Given the description of an element on the screen output the (x, y) to click on. 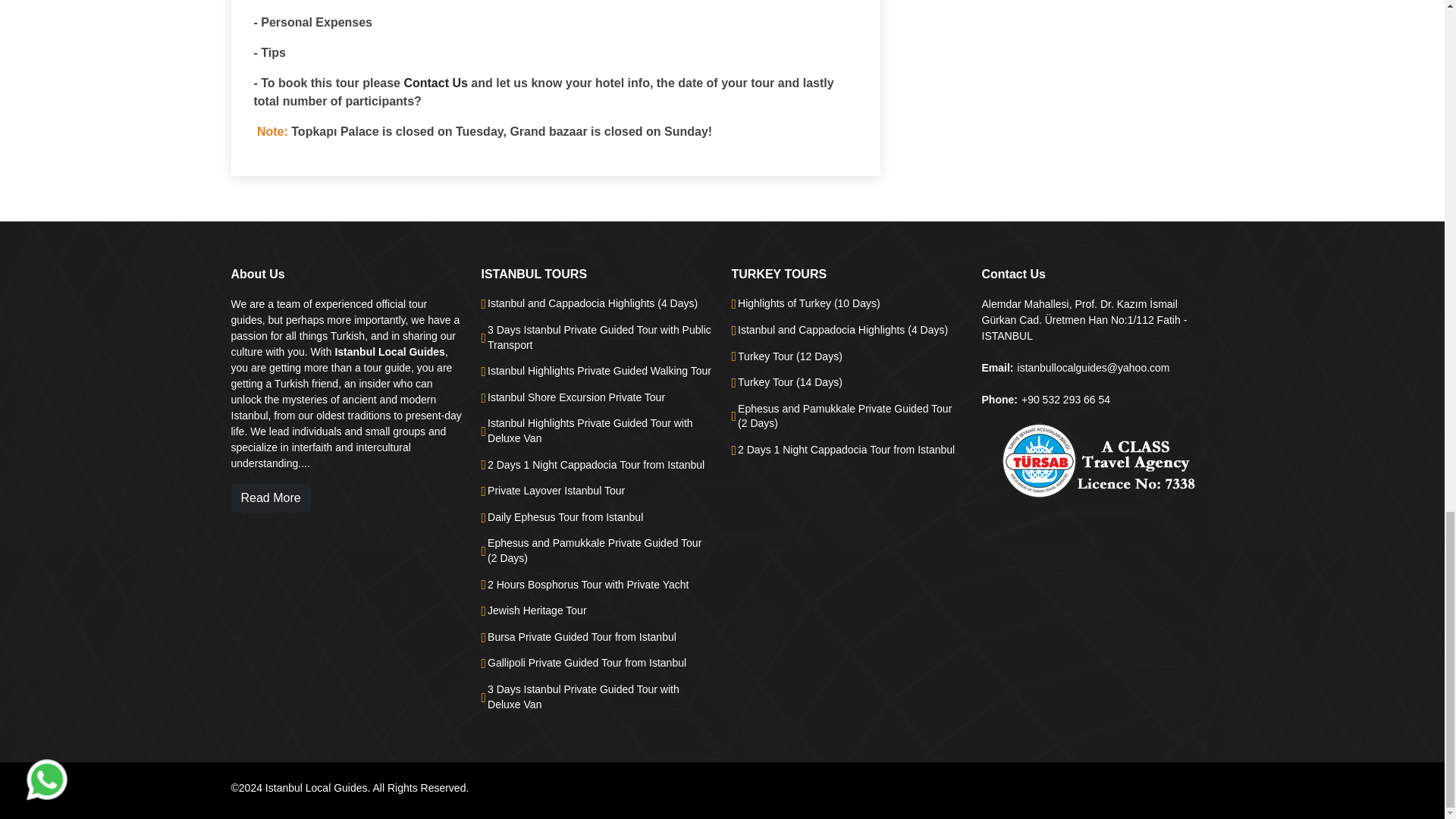
Istanbul Highlights Private Guided Tour with Deluxe Van (600, 430)
Istanbul Highlights Private Guided Walking Tour (599, 371)
Read More (270, 498)
Jewish Heritage Tour (536, 611)
Contact Us (435, 82)
3 Days Istanbul Private Guided Tour with Public Transport (600, 337)
2 Days 1 Night Cappadocia Tour from Istanbul (595, 465)
Contact Us (435, 82)
2 Hours Bosphorus Tour with Private Yacht (587, 585)
Private Layover Istanbul Tour (555, 491)
Bursa Private Guided Tour from Istanbul (582, 637)
Istanbul Shore Excursion Private Tour (576, 397)
Daily Ephesus Tour from Istanbul (565, 517)
